Given the description of an element on the screen output the (x, y) to click on. 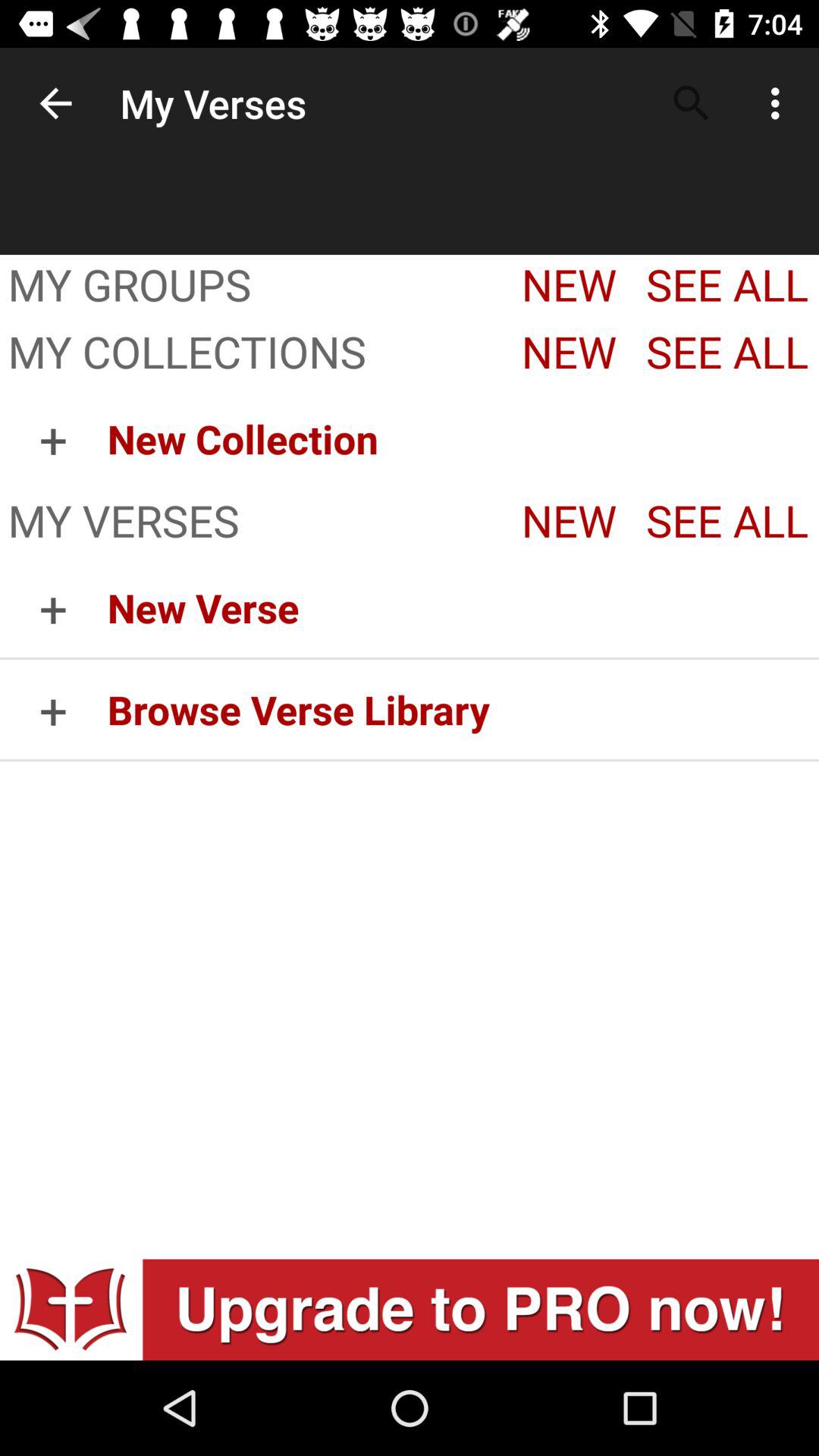
open item below my groups app (251, 353)
